Given the description of an element on the screen output the (x, y) to click on. 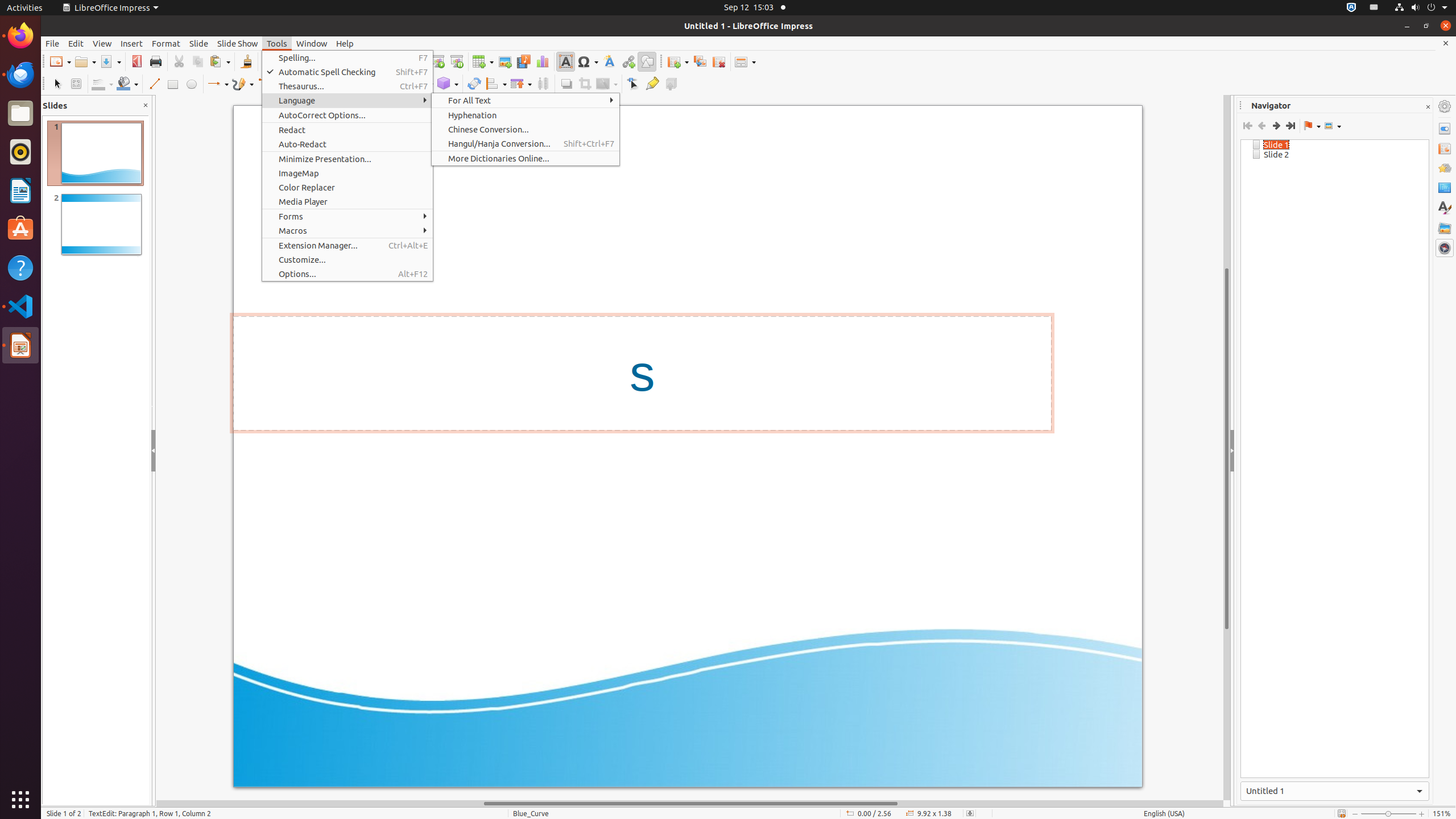
Slide Show Element type: menu (237, 43)
Animation Element type: radio-button (1444, 168)
First Slide Element type: push-button (1247, 125)
Window Element type: menu (311, 43)
